Given the description of an element on the screen output the (x, y) to click on. 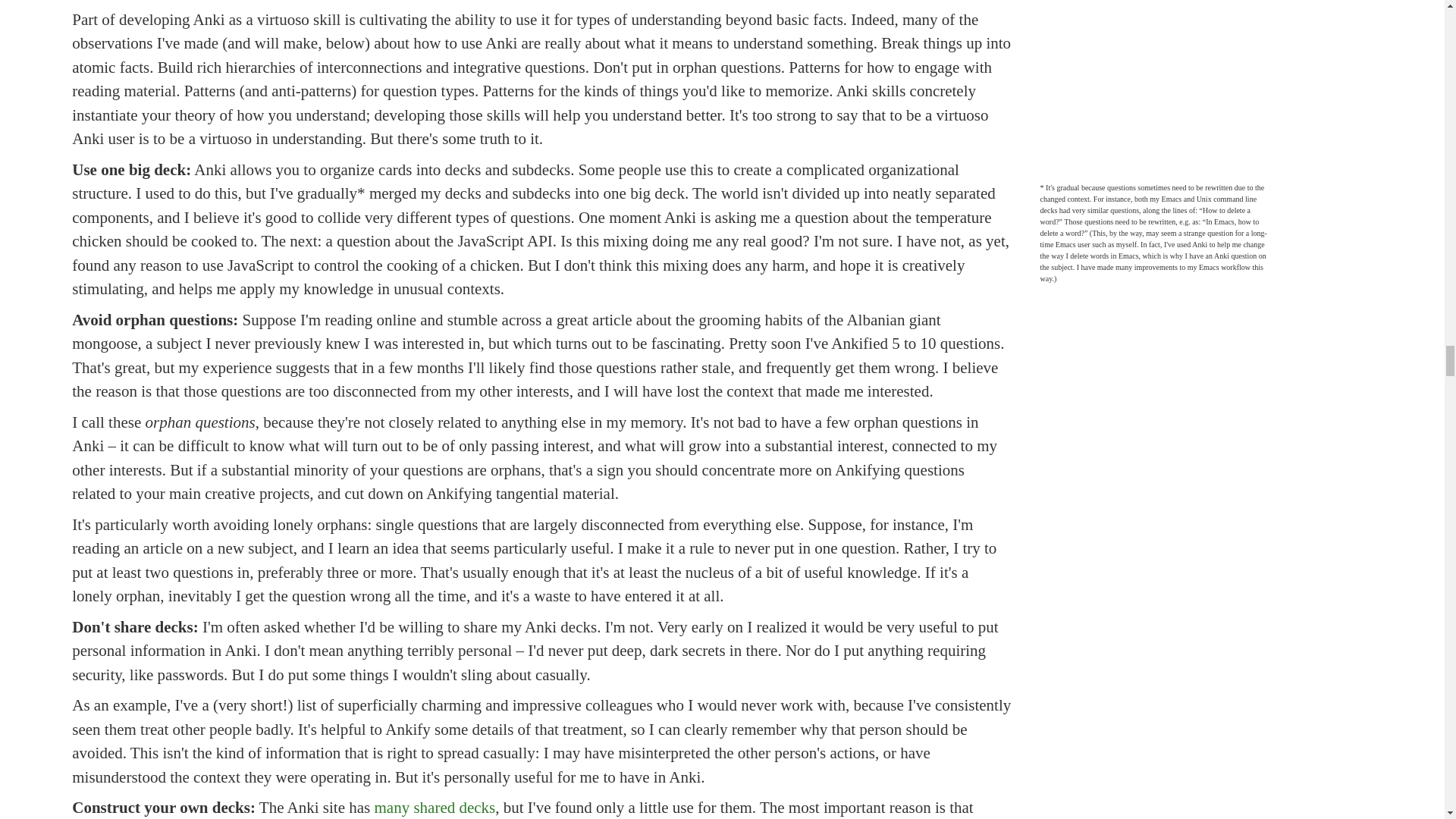
many shared decks (434, 807)
